Given the description of an element on the screen output the (x, y) to click on. 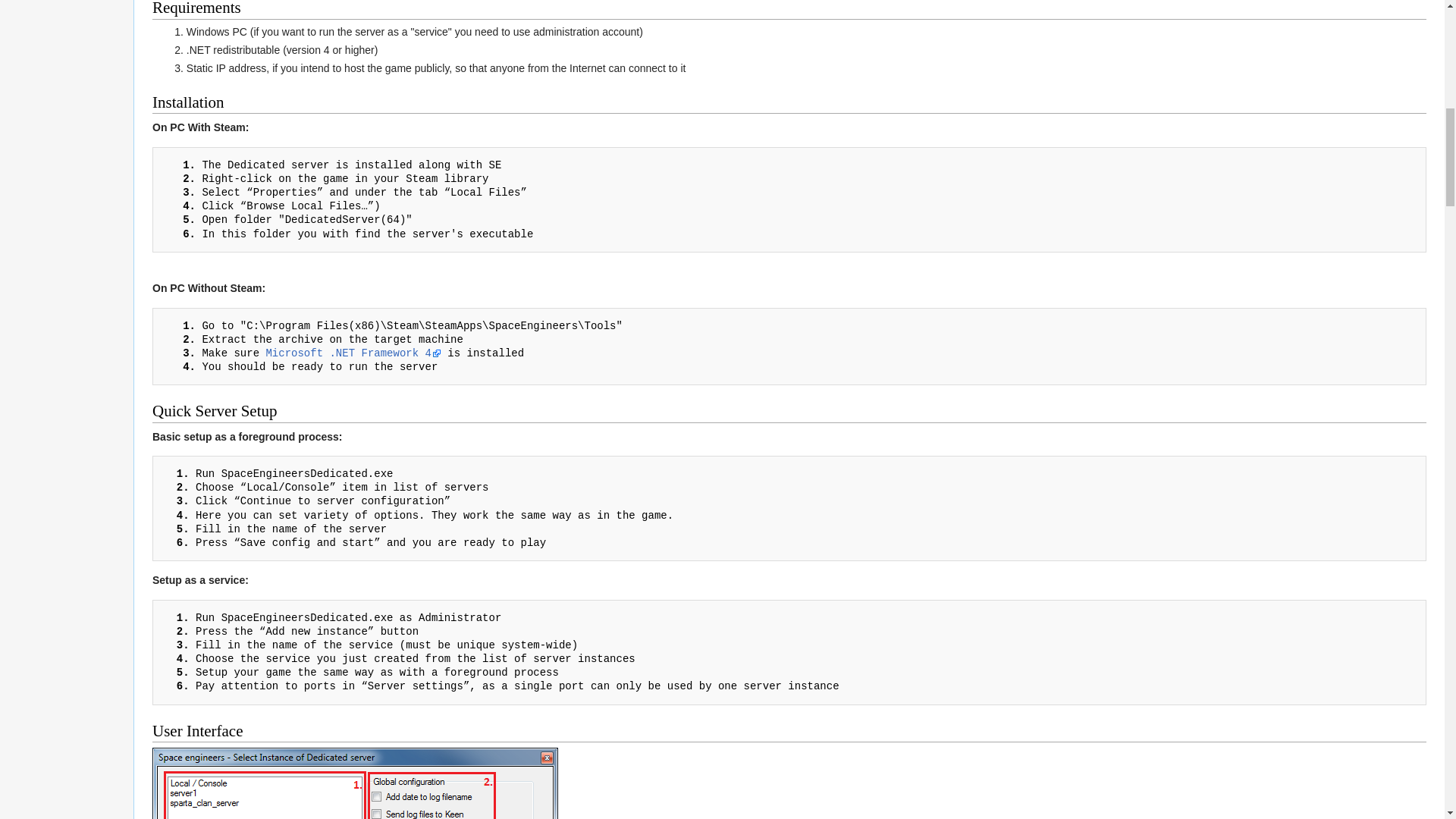
Microsoft .NET Framework 4 (352, 353)
